Given the description of an element on the screen output the (x, y) to click on. 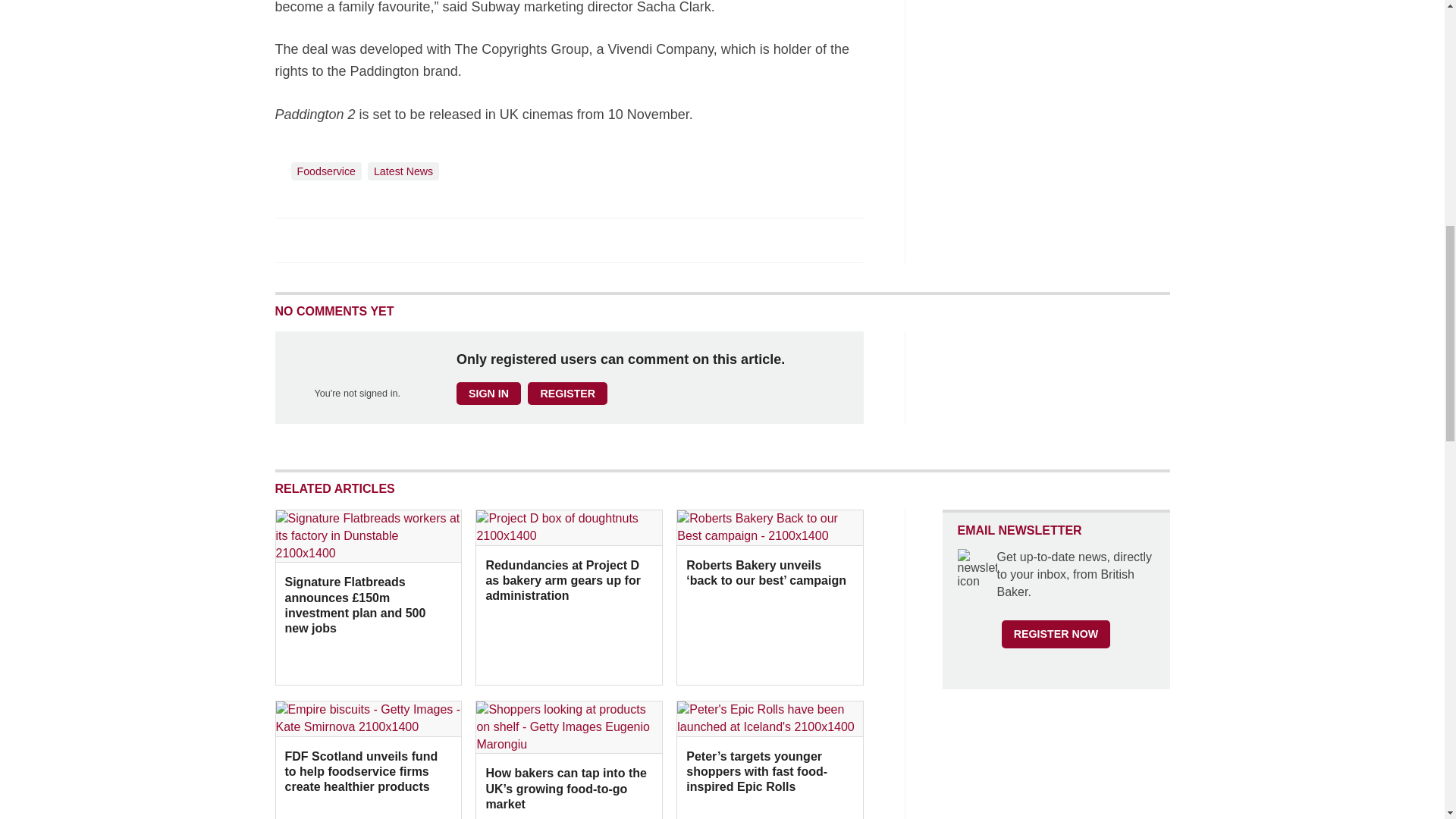
Email this article (386, 239)
Share this on Linked in (352, 239)
Share this on Twitter (320, 239)
Share this on Facebook (288, 239)
No comments (840, 248)
